Given the description of an element on the screen output the (x, y) to click on. 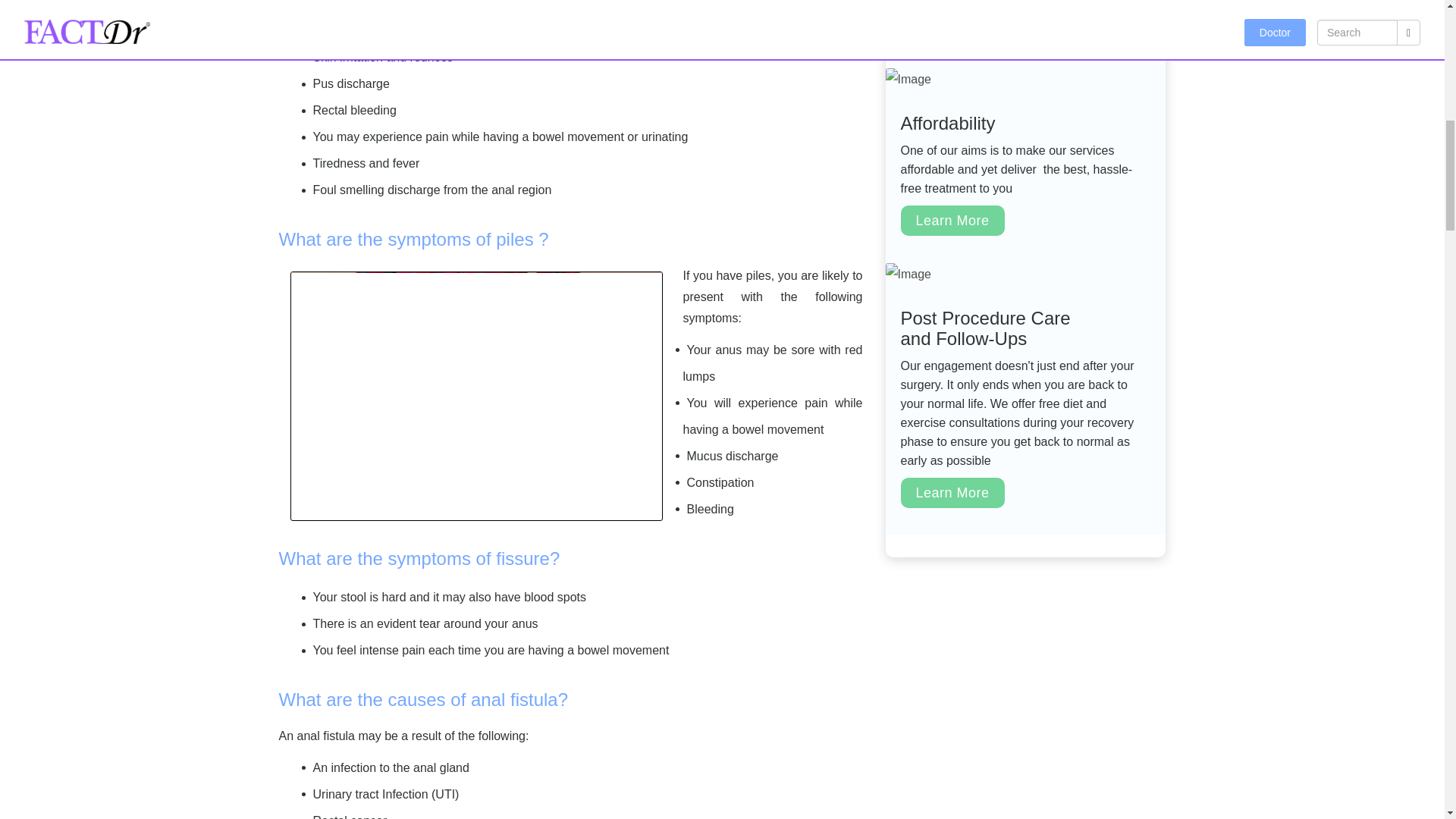
fistula (421, 2)
Learn More (952, 492)
Learn More (952, 25)
Learn More (952, 220)
